Given the description of an element on the screen output the (x, y) to click on. 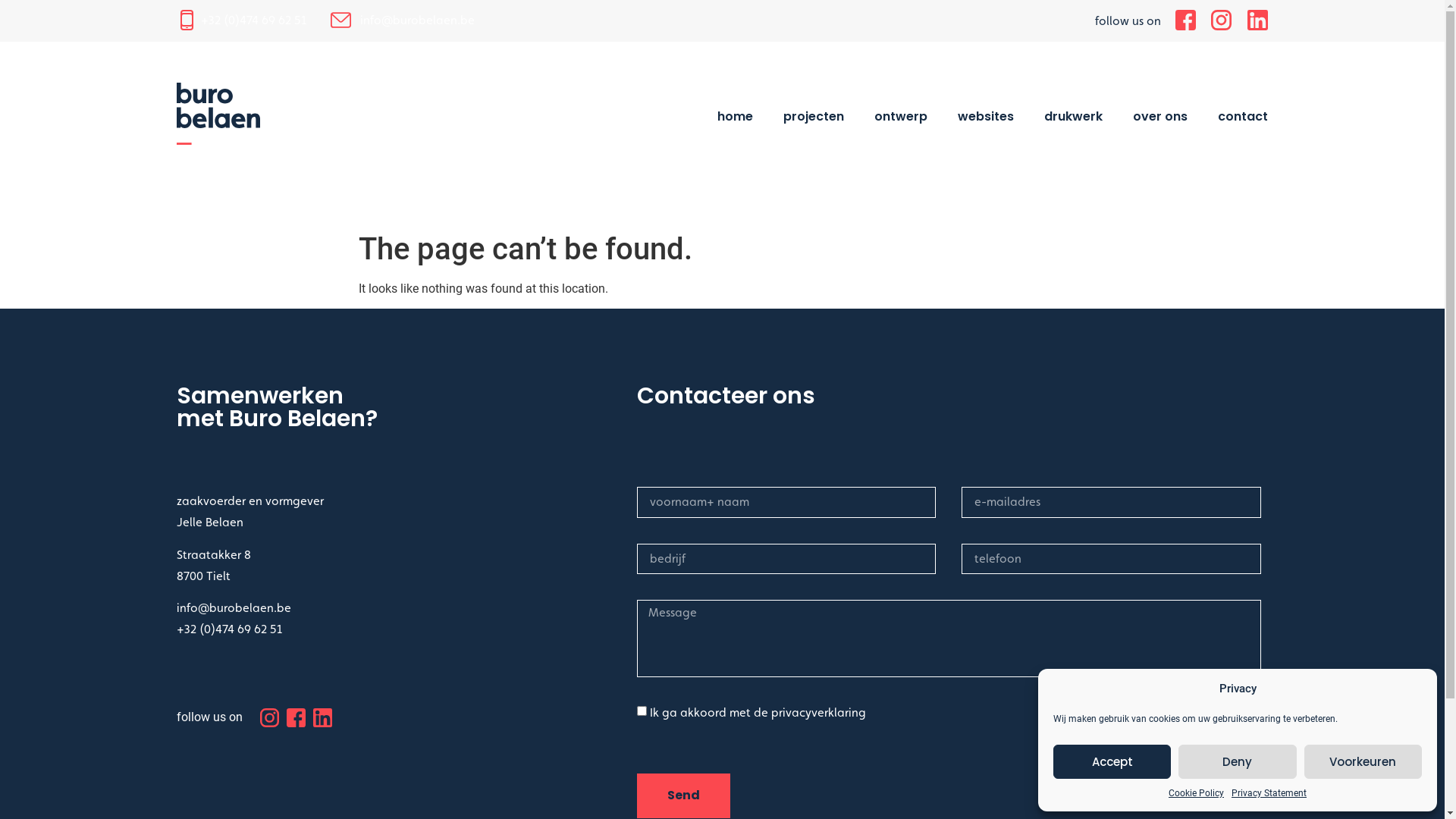
websites Element type: text (985, 115)
info@burobelaen.be Element type: text (232, 607)
projecten Element type: text (813, 115)
Cookie Policy Element type: text (1195, 793)
info@burobelaen.be Element type: text (417, 19)
Send Element type: text (683, 795)
drukwerk Element type: text (1073, 115)
+32 (0)474 69 62 51 Element type: text (228, 628)
+32 (0)474 69 62 51 Element type: text (253, 19)
contact Element type: text (1242, 115)
ontwerp Element type: text (900, 115)
home Element type: text (735, 115)
Voorkeuren Element type: text (1362, 761)
Privacy Statement Element type: text (1268, 793)
Deny Element type: text (1236, 761)
Accept Element type: text (1111, 761)
over ons Element type: text (1159, 115)
